Given the description of an element on the screen output the (x, y) to click on. 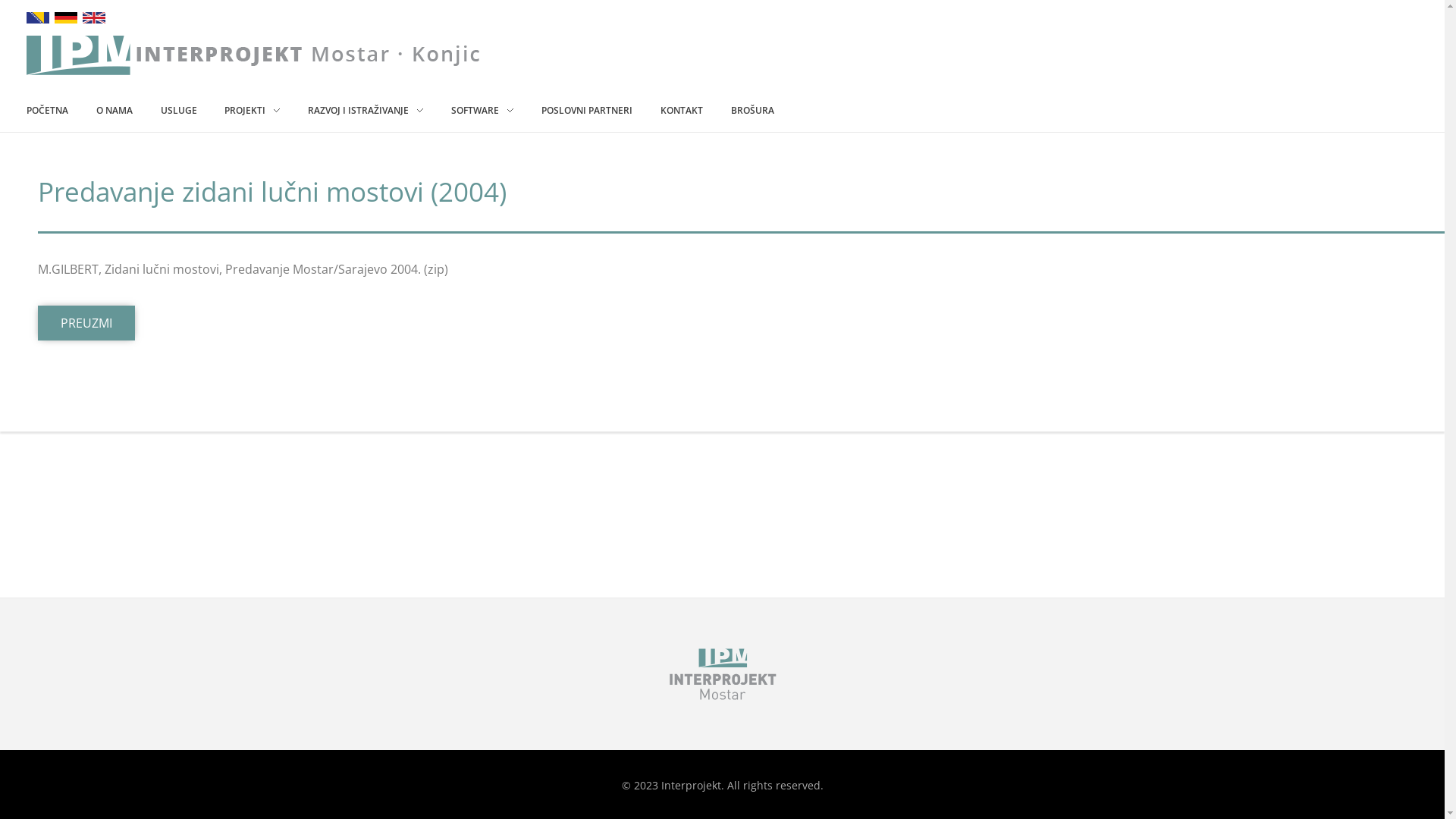
O NAMA Element type: text (113, 108)
PREUZMI Element type: text (85, 322)
KONTAKT Element type: text (681, 108)
POSLOVNI PARTNERI Element type: text (586, 108)
USLUGE Element type: text (178, 108)
SOFTWARE Element type: text (482, 108)
PROJEKTI Element type: text (252, 108)
